Given the description of an element on the screen output the (x, y) to click on. 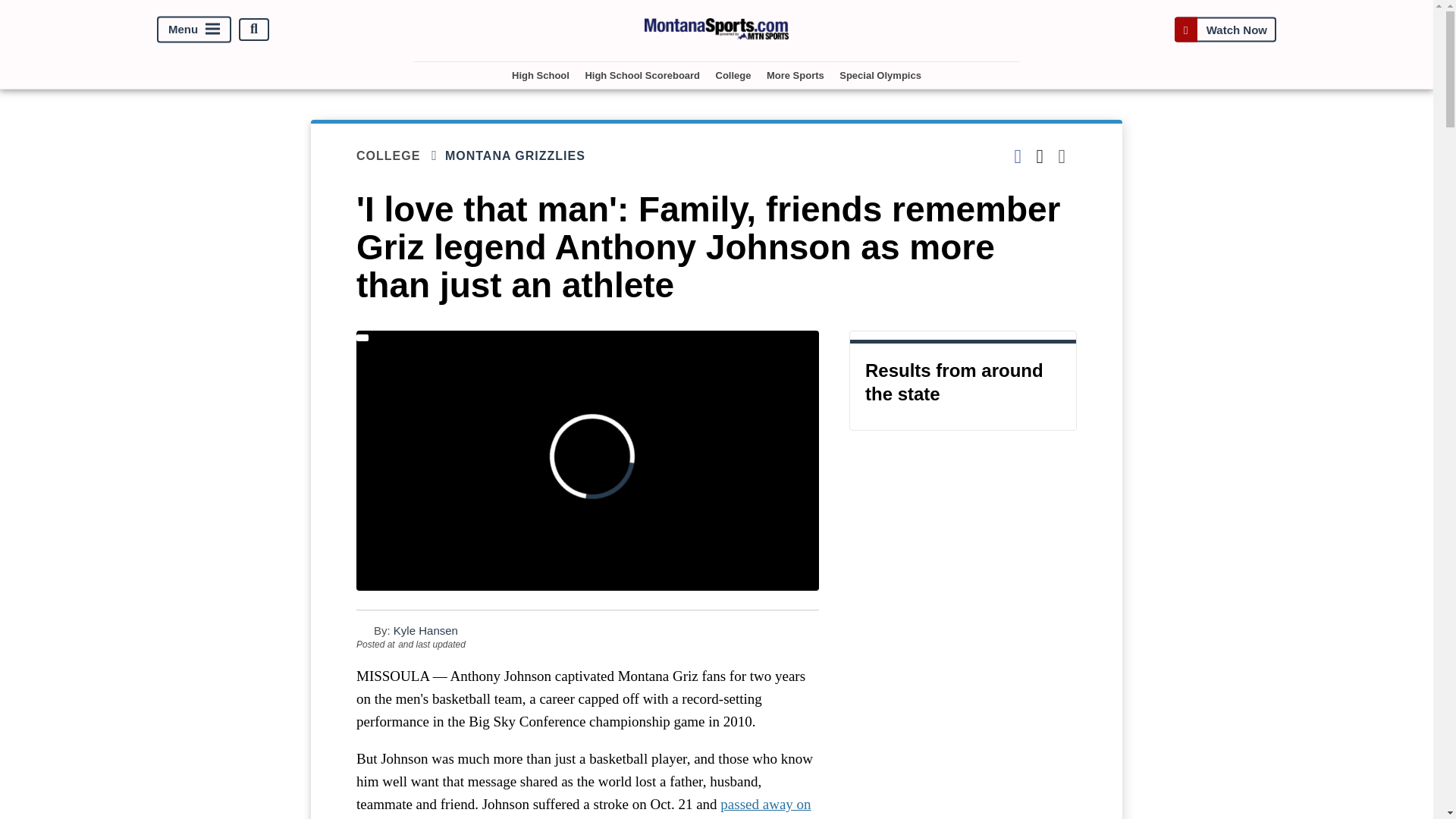
MONTANA GRIZZLIES (524, 155)
More Sports (794, 75)
passed away on Nov. 1 (583, 807)
Results from around the state (962, 380)
Watch Now (1224, 29)
High School (540, 75)
College (733, 75)
Special Olympics (879, 75)
Menu (194, 28)
Kyle Hansen (425, 630)
COLLEGE (400, 155)
High School Scoreboard (642, 75)
